Given the description of an element on the screen output the (x, y) to click on. 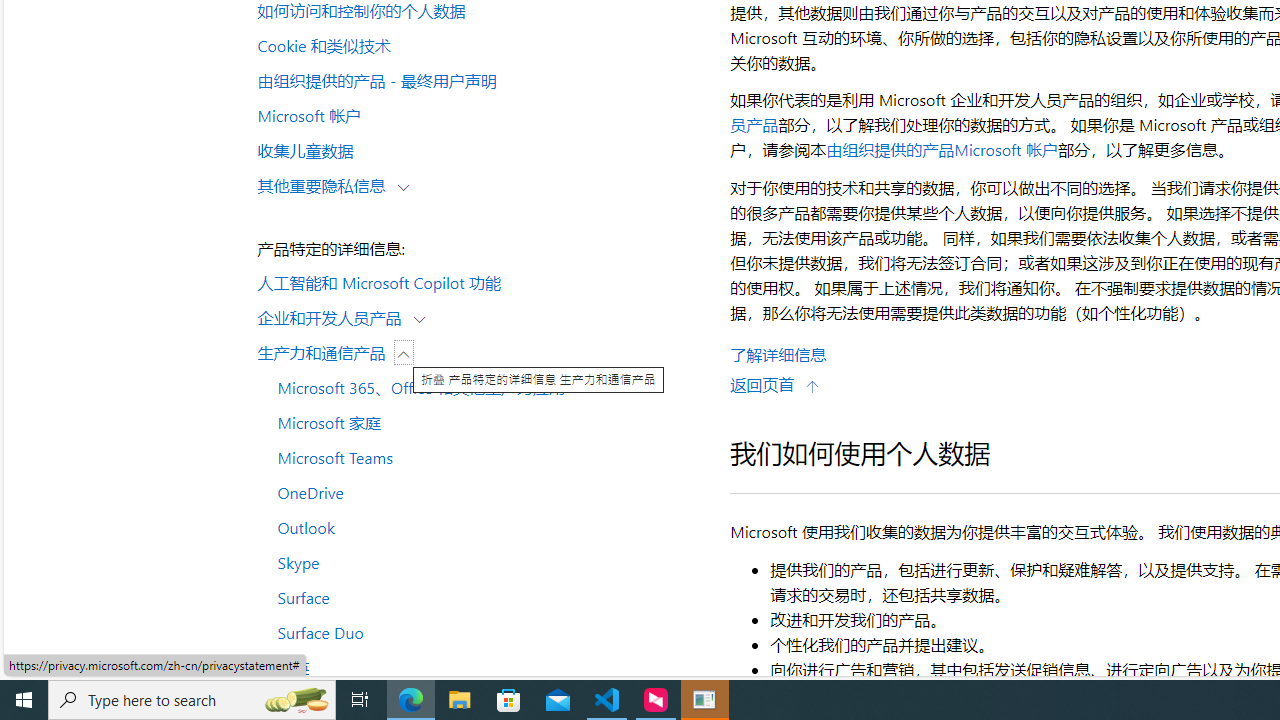
Skype (483, 561)
